Given the description of an element on the screen output the (x, y) to click on. 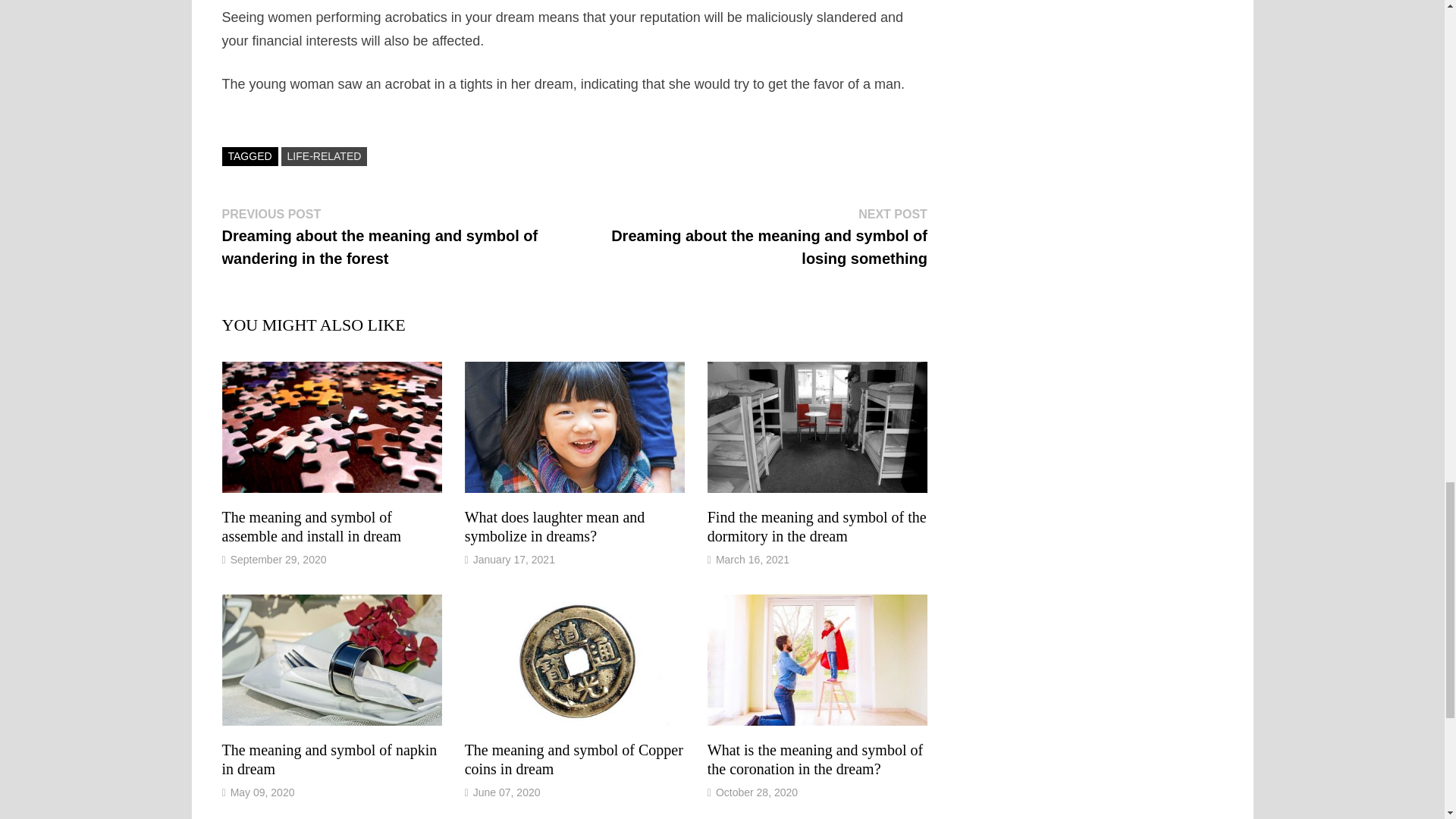
What does laughter mean and symbolize in dreams? (554, 526)
The meaning and symbol of napkin in dream (328, 759)
January 17, 2021 (513, 559)
The meaning and symbol of assemble and install in dream (311, 526)
The meaning and symbol of Copper coins in dream (573, 759)
September 29, 2020 (278, 559)
March 16, 2021 (752, 559)
June 07, 2020 (506, 792)
